Given the description of an element on the screen output the (x, y) to click on. 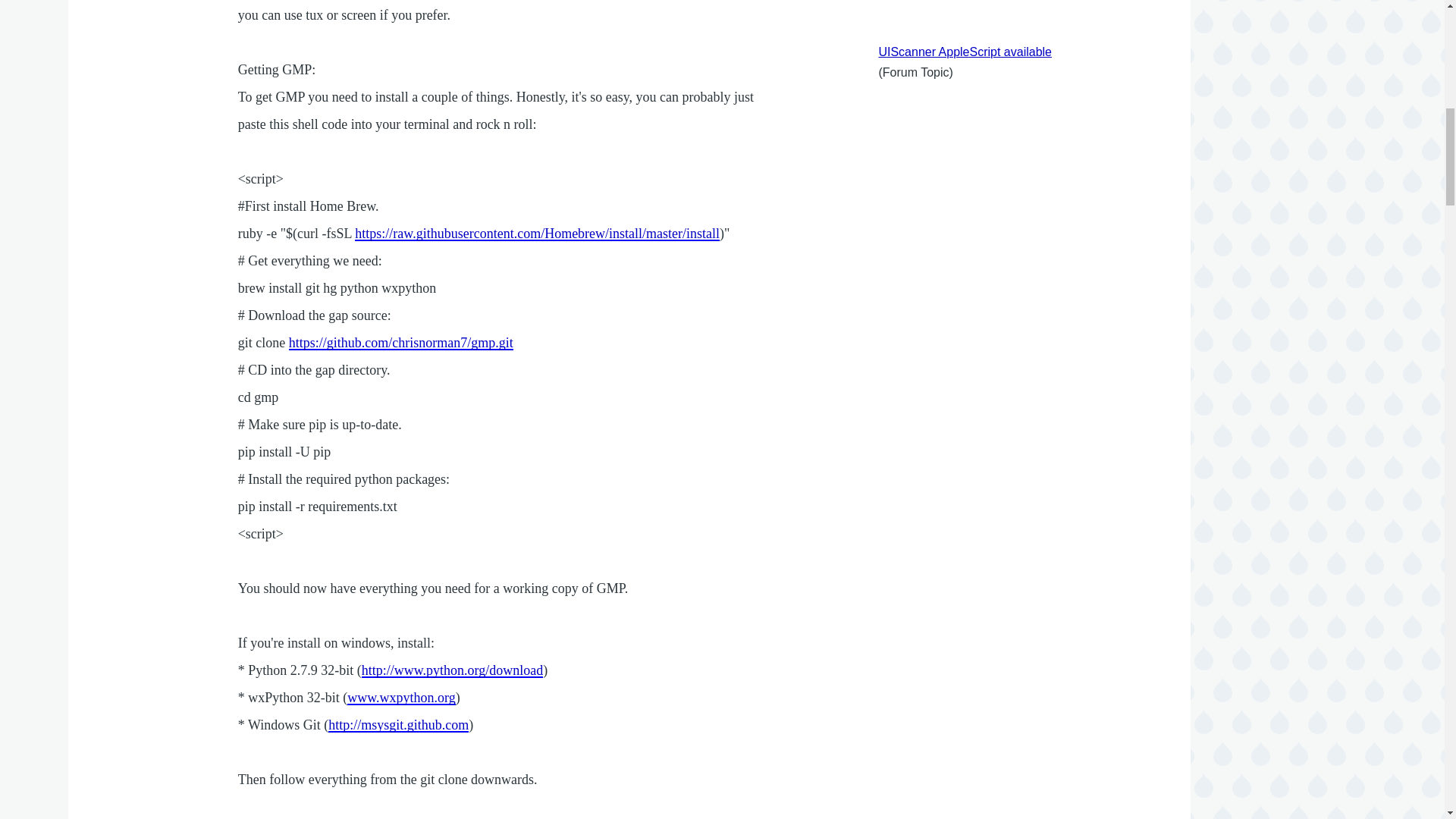
www.wxpython.org (401, 697)
